Given the description of an element on the screen output the (x, y) to click on. 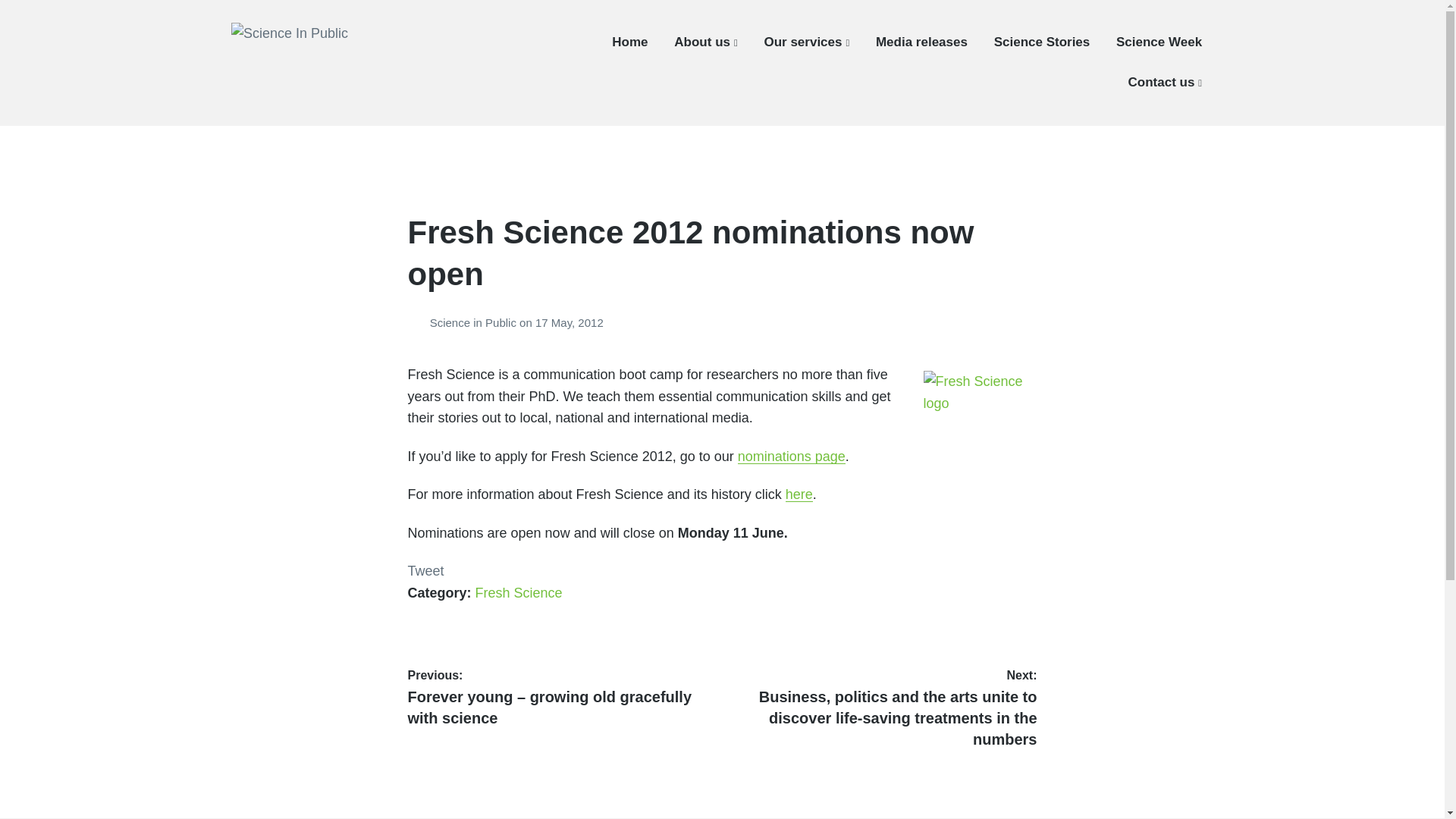
Science Week (1159, 42)
Our services (805, 42)
Posts by Science in Public (418, 322)
Media releases (922, 42)
Home (629, 42)
Fresh Science logo (979, 391)
Science Stories (1042, 42)
Contact us (1165, 82)
Science In Public (312, 78)
About us (705, 42)
